Given the description of an element on the screen output the (x, y) to click on. 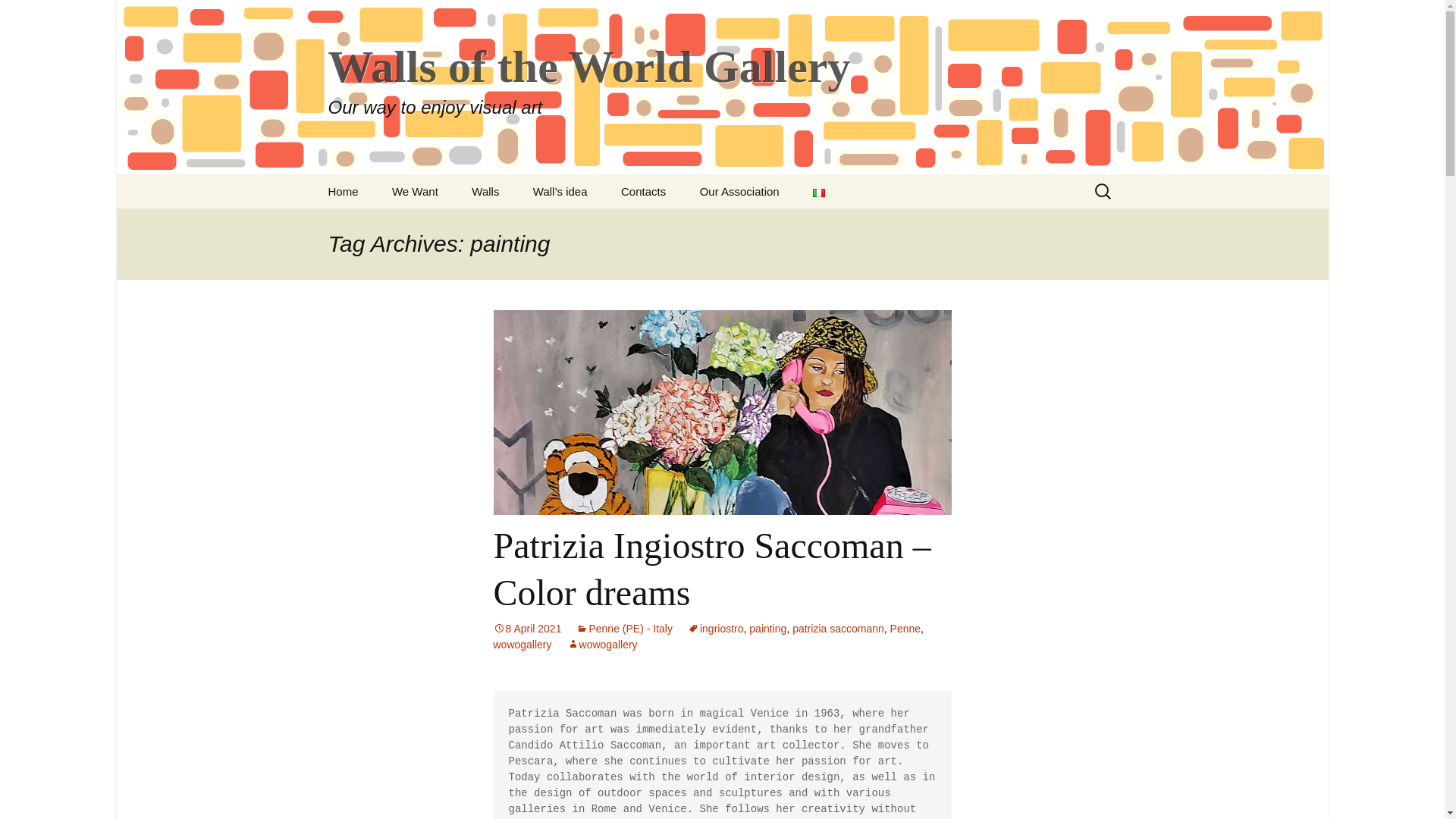
wowogallery (353, 183)
Walls of the World Gallery (602, 644)
Skip to content (342, 191)
patrizia saccomann (353, 183)
wowogallery (837, 628)
View all posts by wowogallery (522, 644)
Walls (602, 644)
painting (485, 191)
Search (767, 628)
8 April 2021 (18, 15)
We Want (526, 628)
Search for: (414, 191)
